Given the description of an element on the screen output the (x, y) to click on. 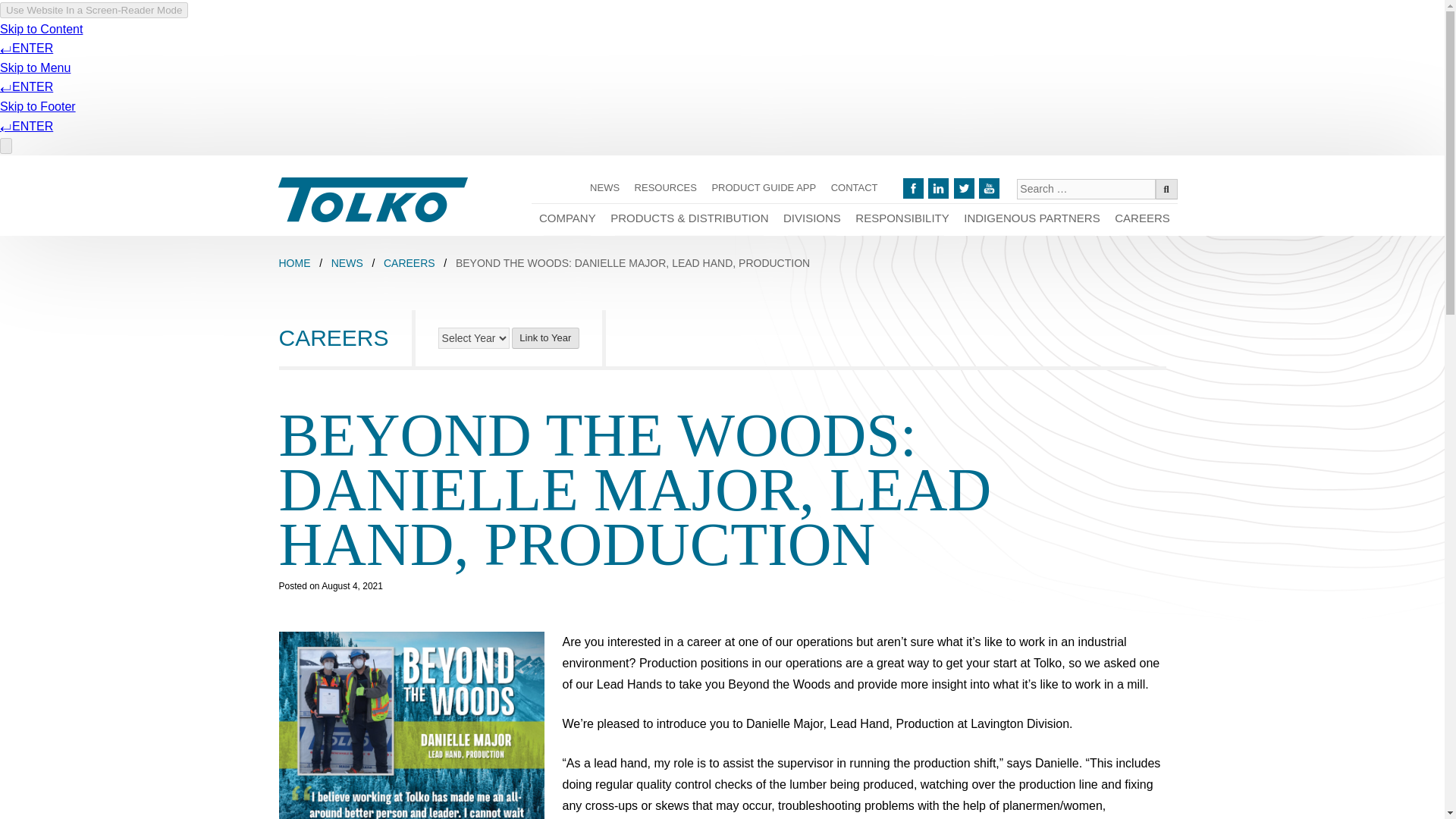
CONTACT (854, 188)
Search Submit (1166, 189)
Link to Year (545, 337)
RESOURCES (665, 188)
COMPANY (566, 219)
NEWS (604, 188)
PRODUCT GUIDE APP (764, 188)
